Given the description of an element on the screen output the (x, y) to click on. 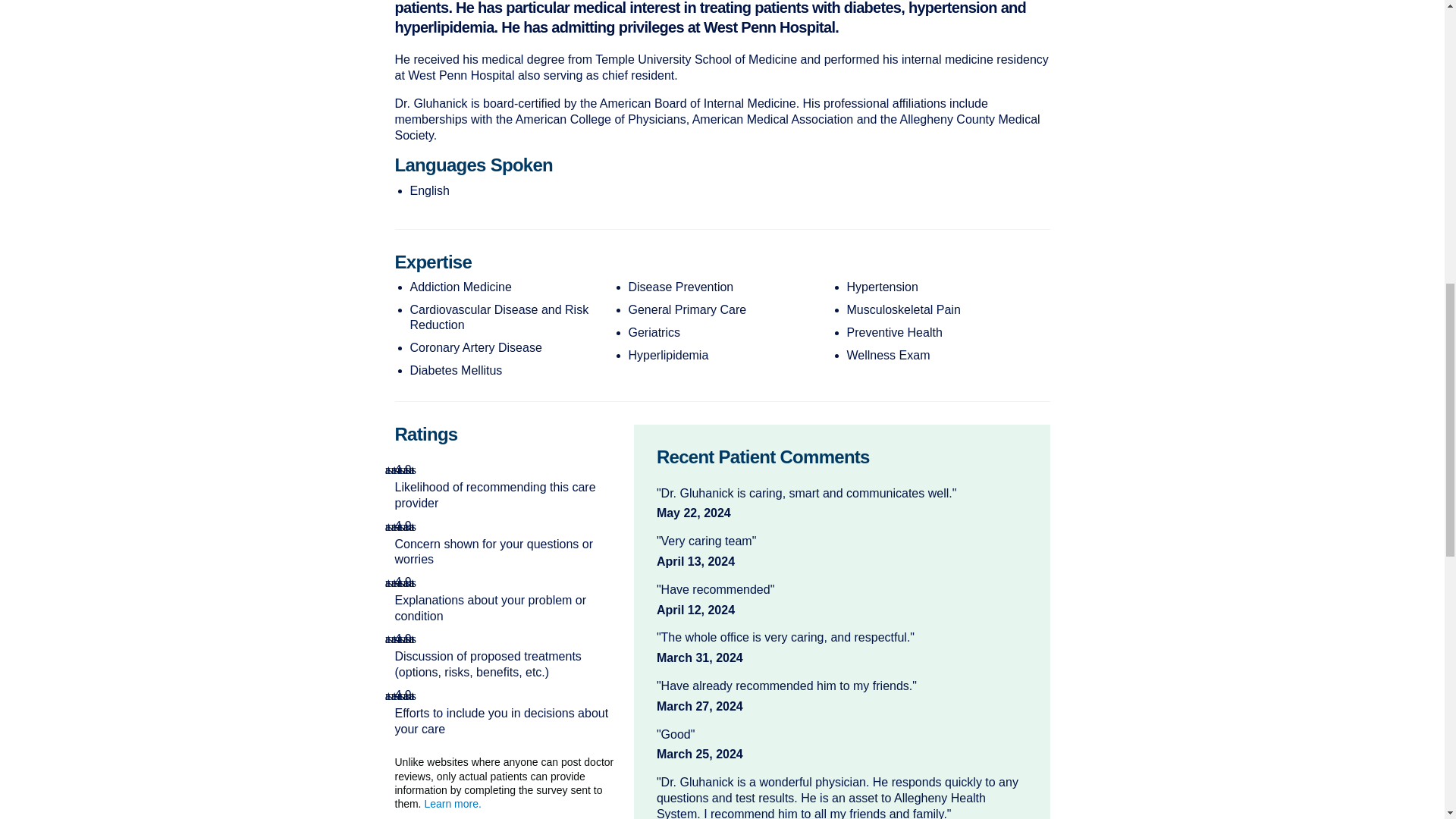
Learn more. (451, 803)
